Given the description of an element on the screen output the (x, y) to click on. 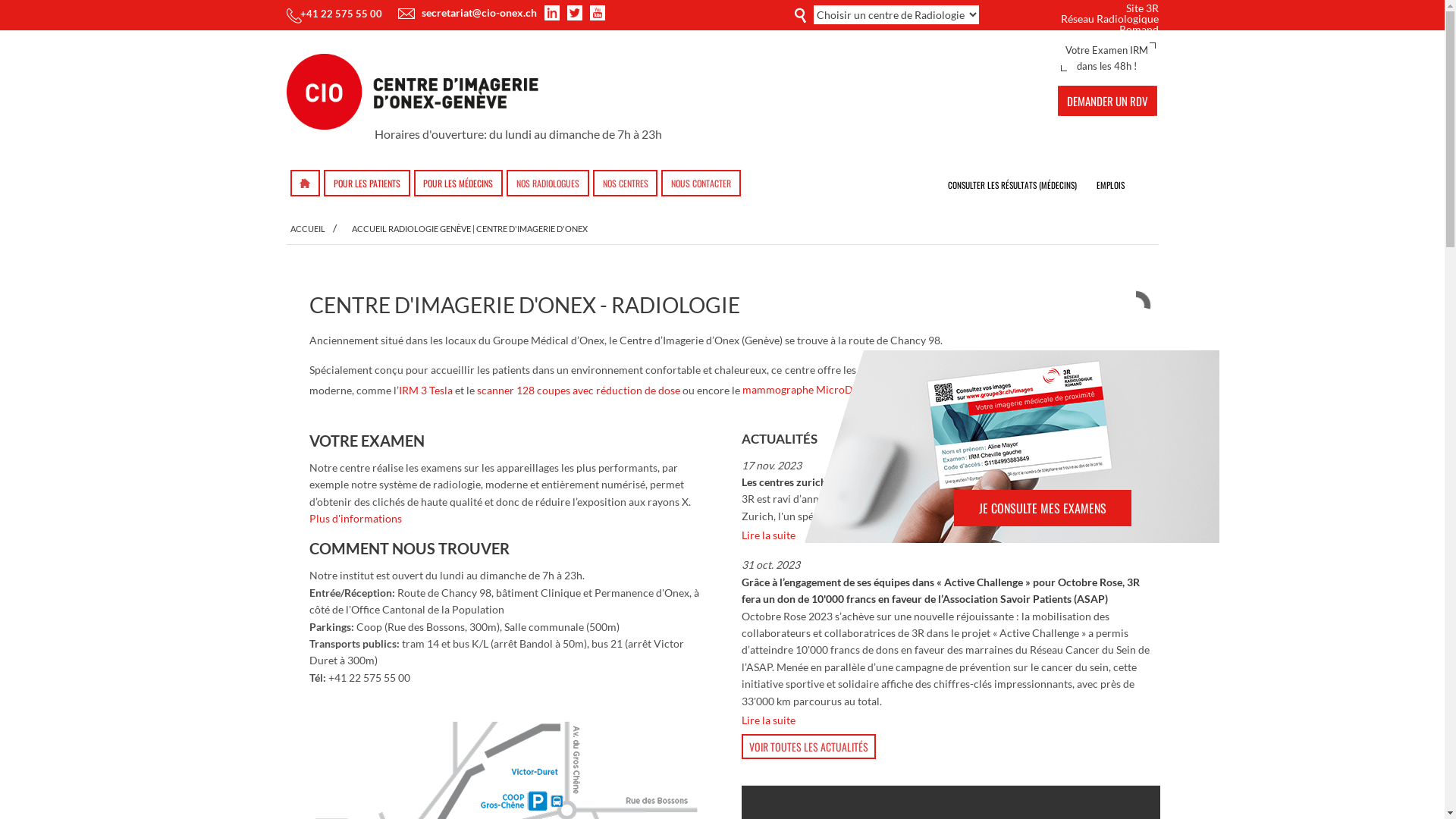
NOS RADIOLOGUES Element type: text (547, 182)
logo-CIO Element type: hover (412, 91)
youtube Element type: hover (597, 12)
linkedin Element type: hover (551, 12)
Lire la suite Element type: text (949, 720)
IRM 3 Tesla Element type: text (425, 388)
POUR LES PATIENTS Element type: text (366, 182)
twitter Element type: hover (574, 12)
ACCUEIL Element type: text (309, 228)
Search Element type: text (796, 14)
EMPLOIS Element type: text (1110, 183)
secretariat@cio-onex.ch Element type: text (478, 12)
NOS CENTRES Element type: text (625, 182)
JE CONSULTE MES EXAMENS Element type: text (1041, 507)
NOUS CONTACTER Element type: text (700, 182)
DEMANDER UN RDV Element type: text (1106, 100)
Lire la suite Element type: text (949, 535)
Plus d'informations Element type: text (355, 517)
Les centres zurichois de Radioviva rejoignent 3R Element type: text (854, 481)
